Given the description of an element on the screen output the (x, y) to click on. 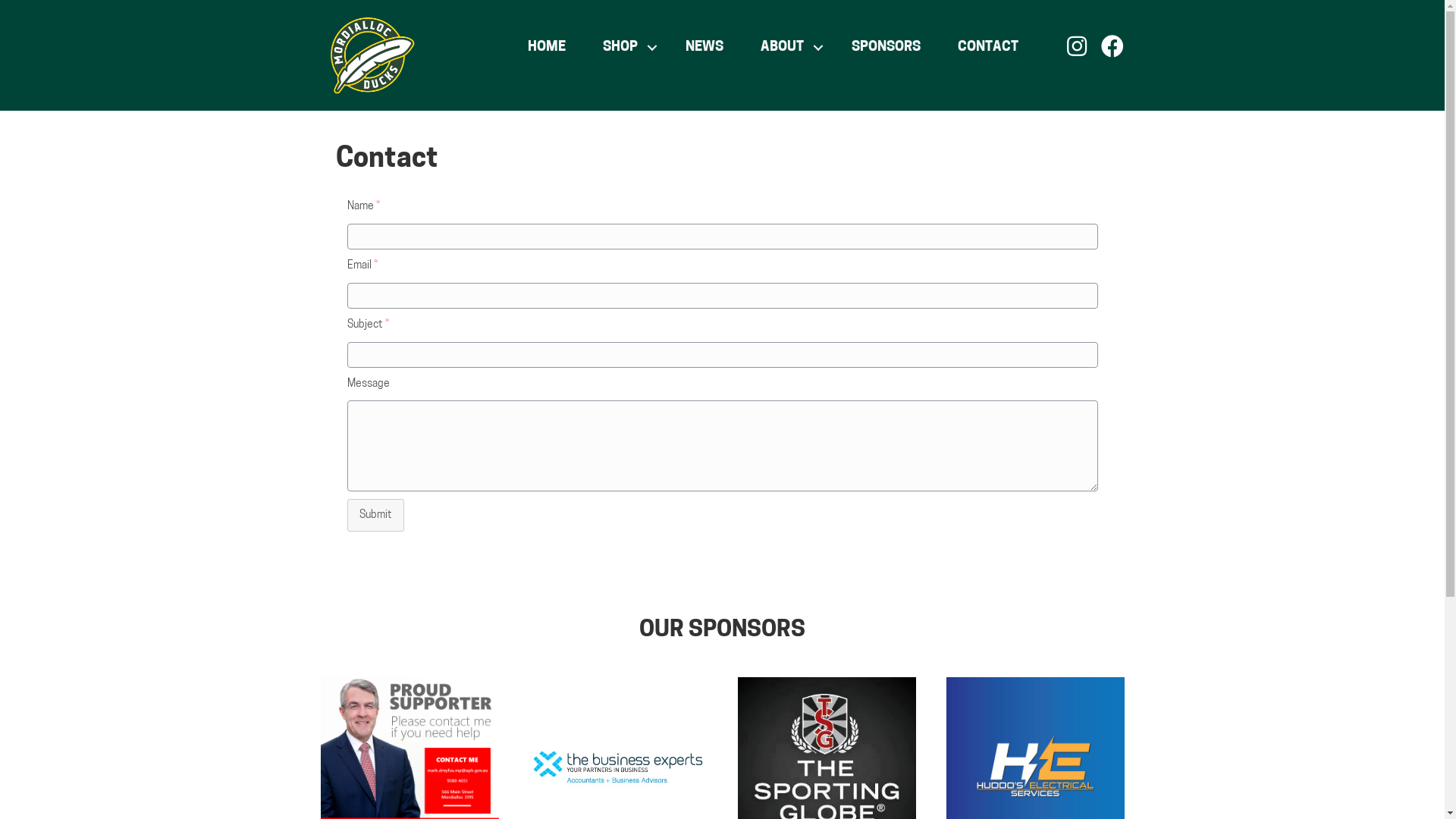
SPONSORS Element type: text (885, 47)
Submit Element type: text (375, 514)
NEWS Element type: text (704, 47)
CONTACT Element type: text (987, 47)
SHOP Element type: text (625, 47)
ABOUT Element type: text (787, 47)
HOME Element type: text (546, 47)
Mordialloc-Logo Element type: hover (367, 55)
the-business-experts Element type: hover (618, 766)
